Given the description of an element on the screen output the (x, y) to click on. 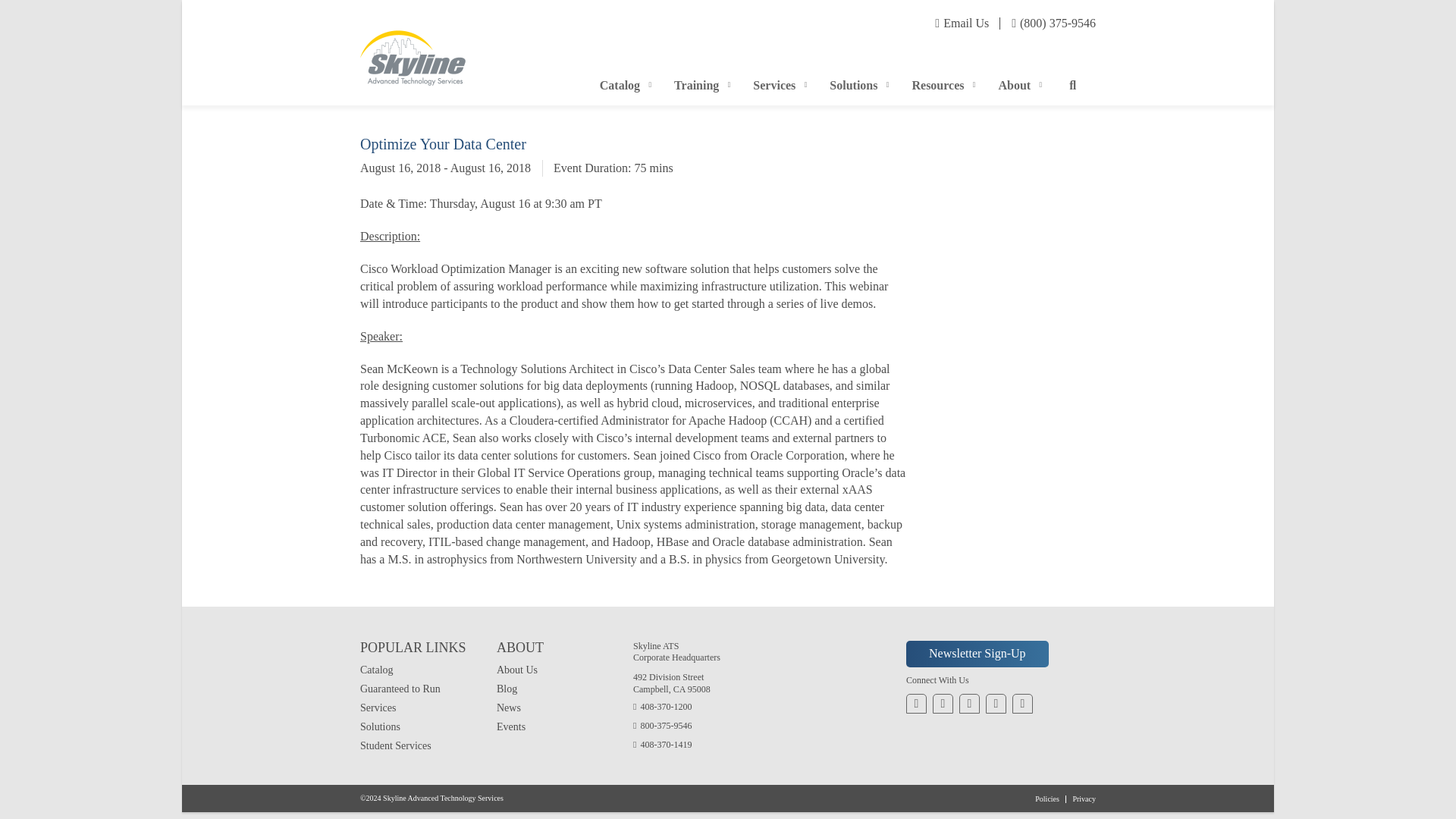
Skyline Advanced Technology Services (840, 72)
Newsletter Sign-Up (412, 50)
Catalog (976, 653)
Email Us (622, 85)
